Given the description of an element on the screen output the (x, y) to click on. 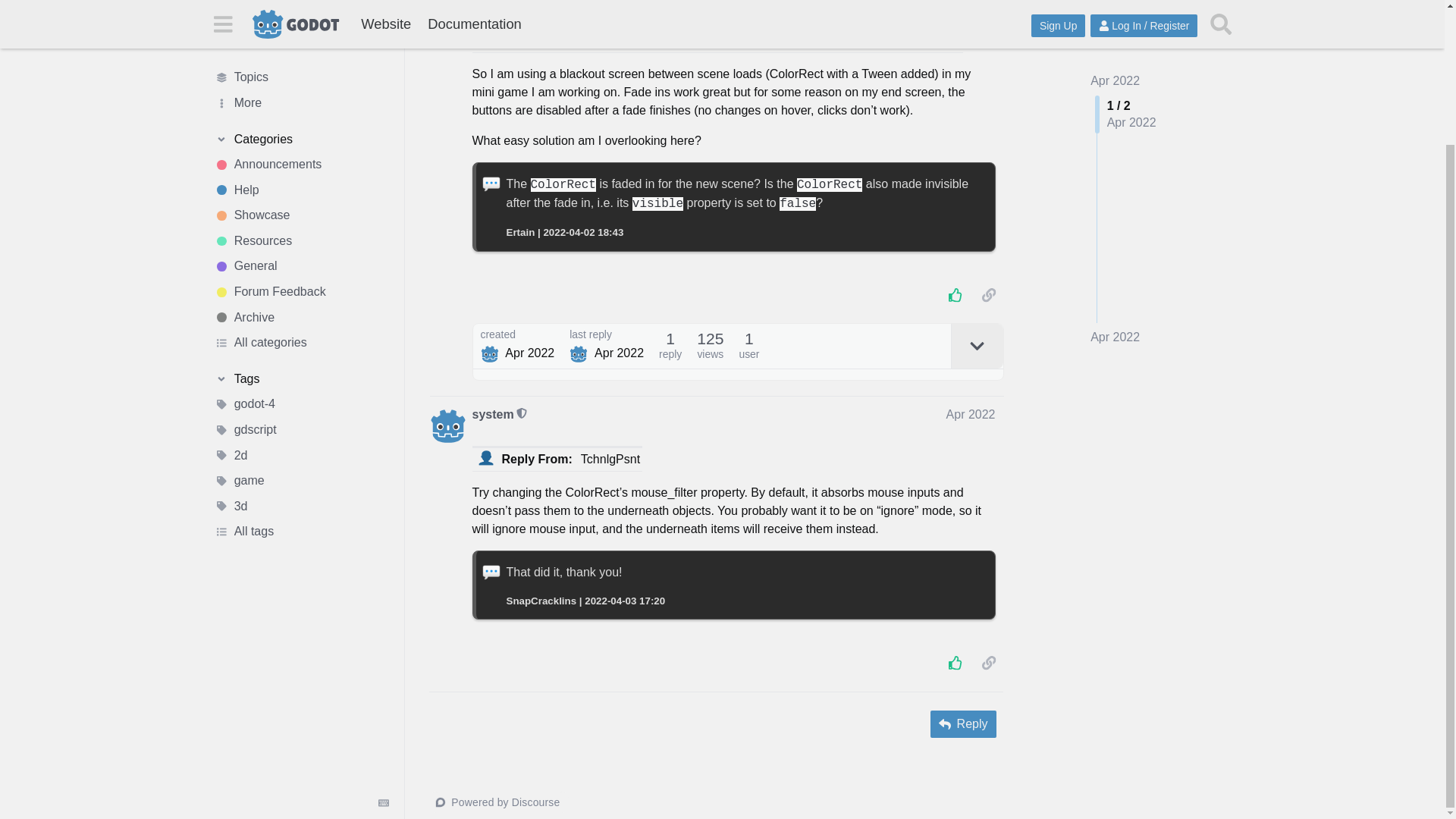
Forum Feedback (301, 126)
Tags (301, 213)
Help (301, 24)
3d (301, 340)
godot-4 (301, 239)
Announcements (301, 6)
All tags (301, 366)
Resources (301, 75)
